Given the description of an element on the screen output the (x, y) to click on. 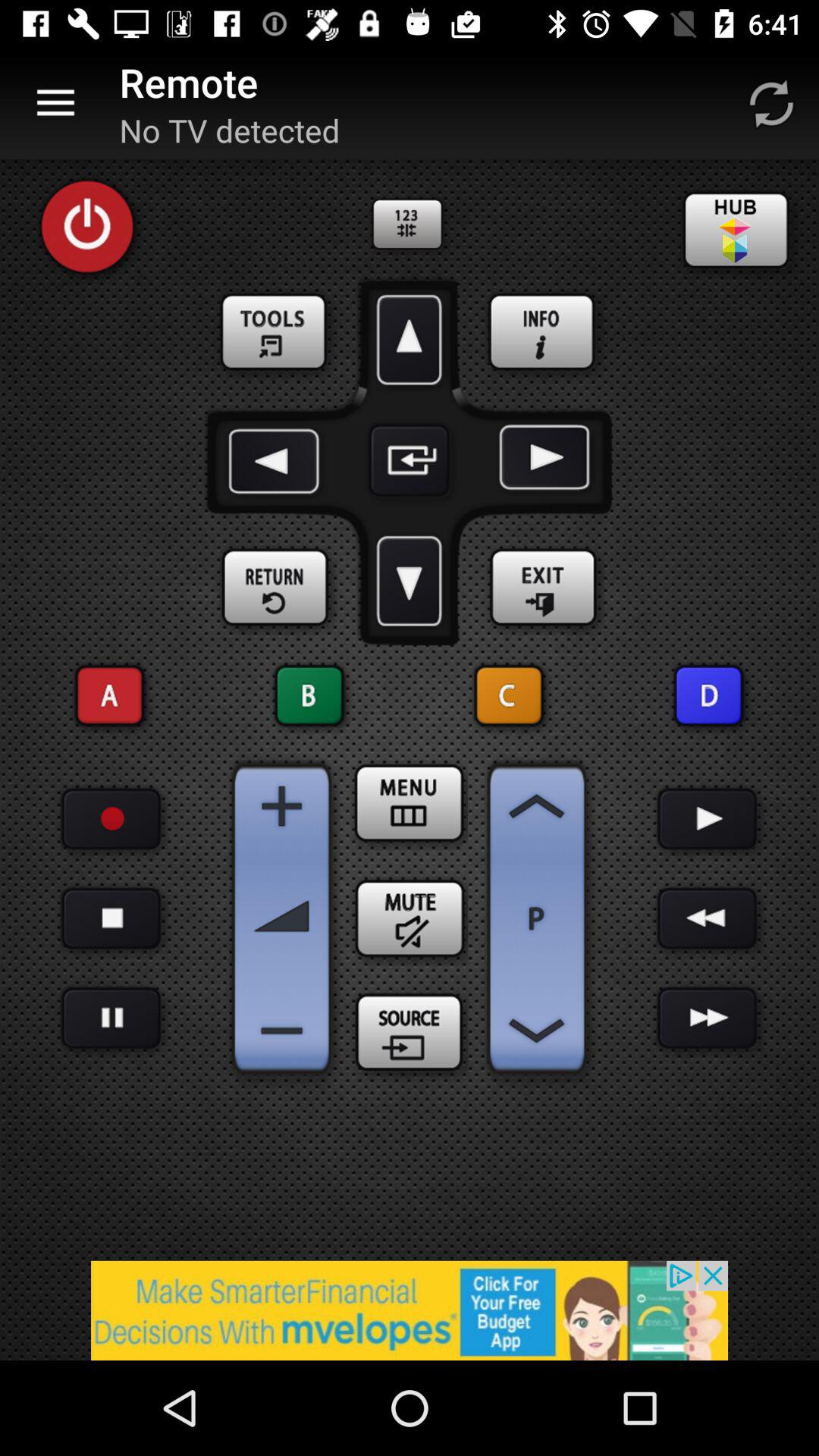
return back (275, 588)
